Given the description of an element on the screen output the (x, y) to click on. 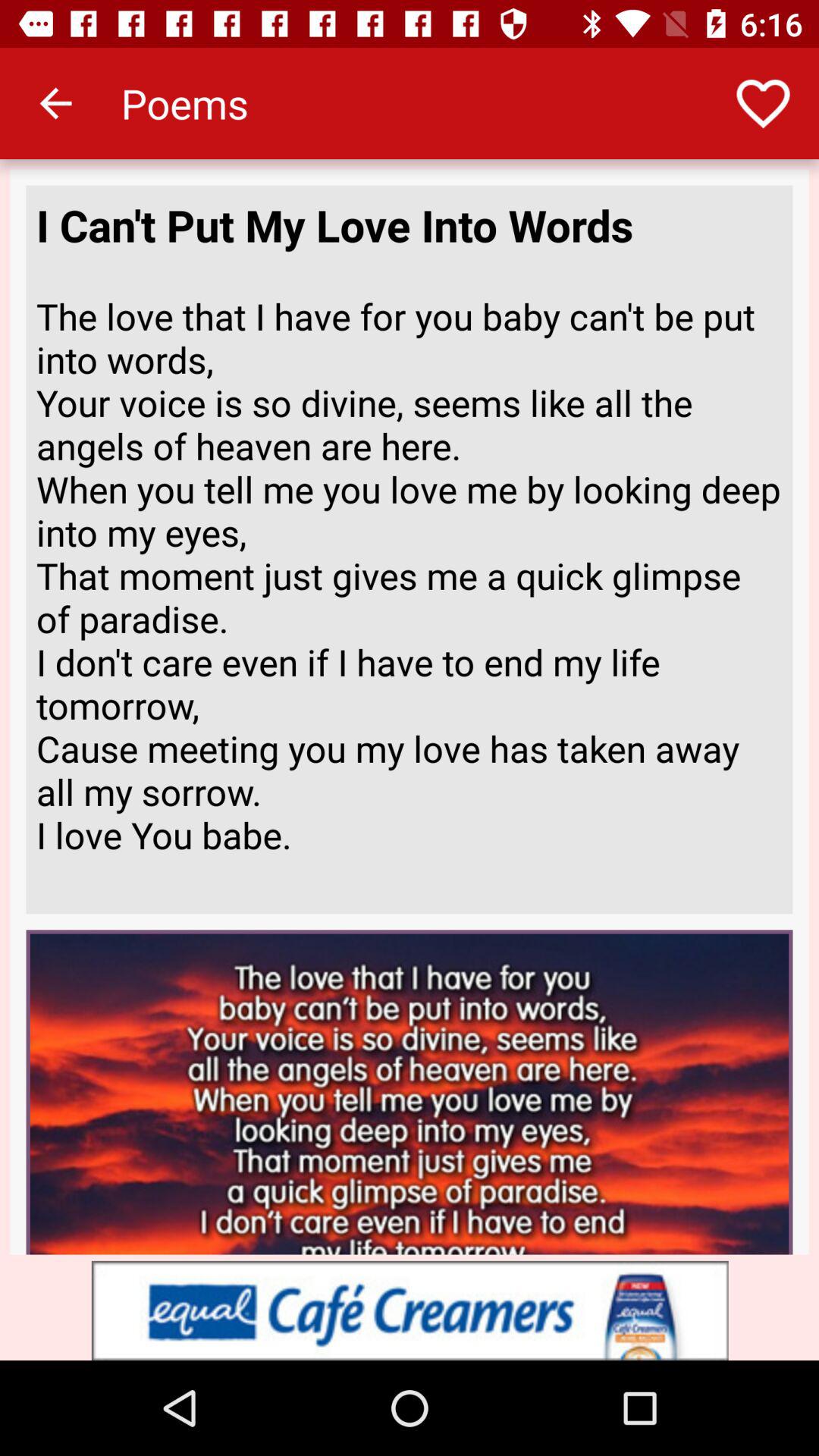
toggle to advertisement box (409, 1310)
